Given the description of an element on the screen output the (x, y) to click on. 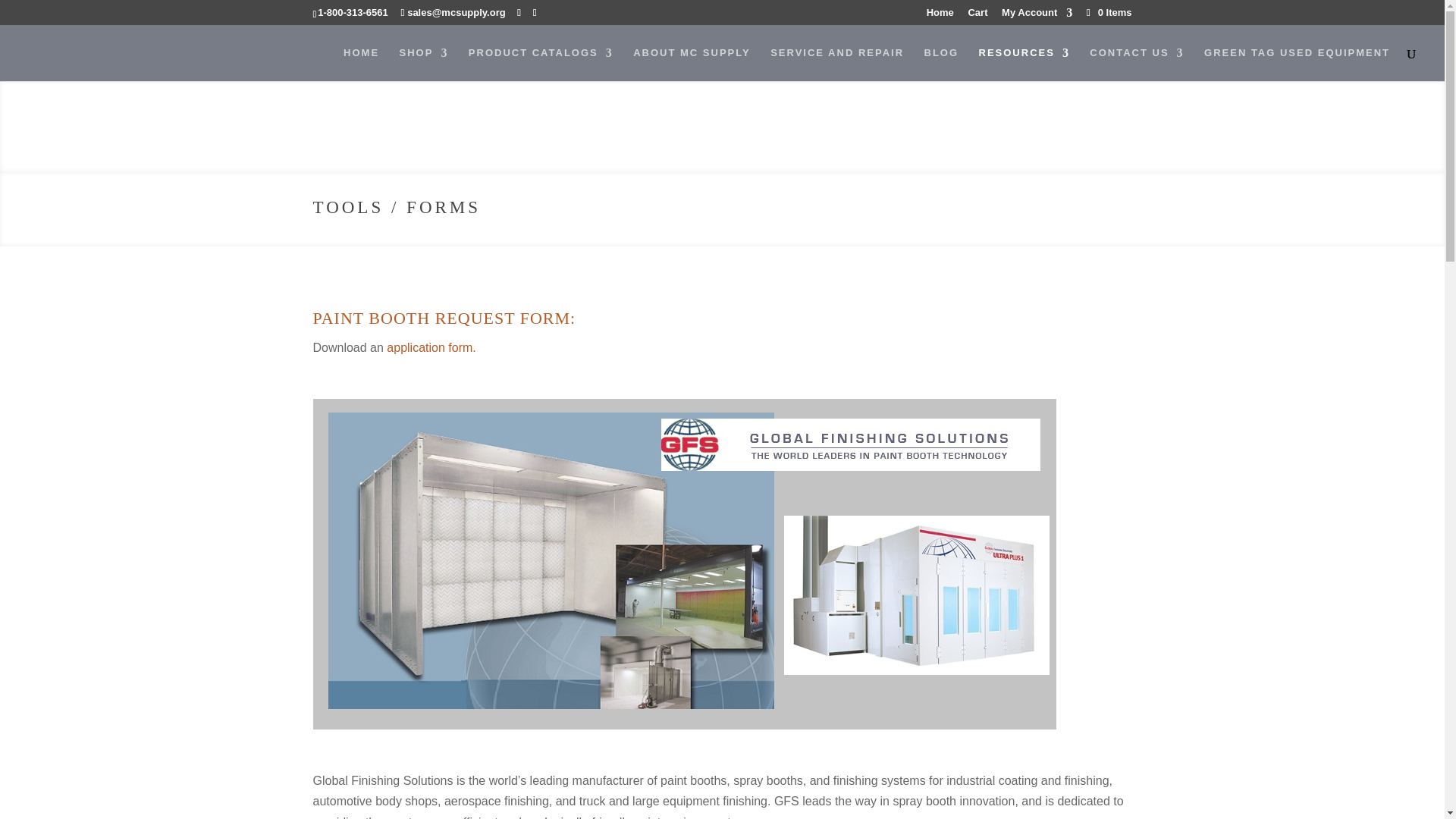
Home (939, 16)
SHOP (423, 63)
My Account (1036, 16)
Cart (977, 16)
HOME (360, 63)
1-800-313-6561 (352, 12)
0 Items (1107, 12)
